Given the description of an element on the screen output the (x, y) to click on. 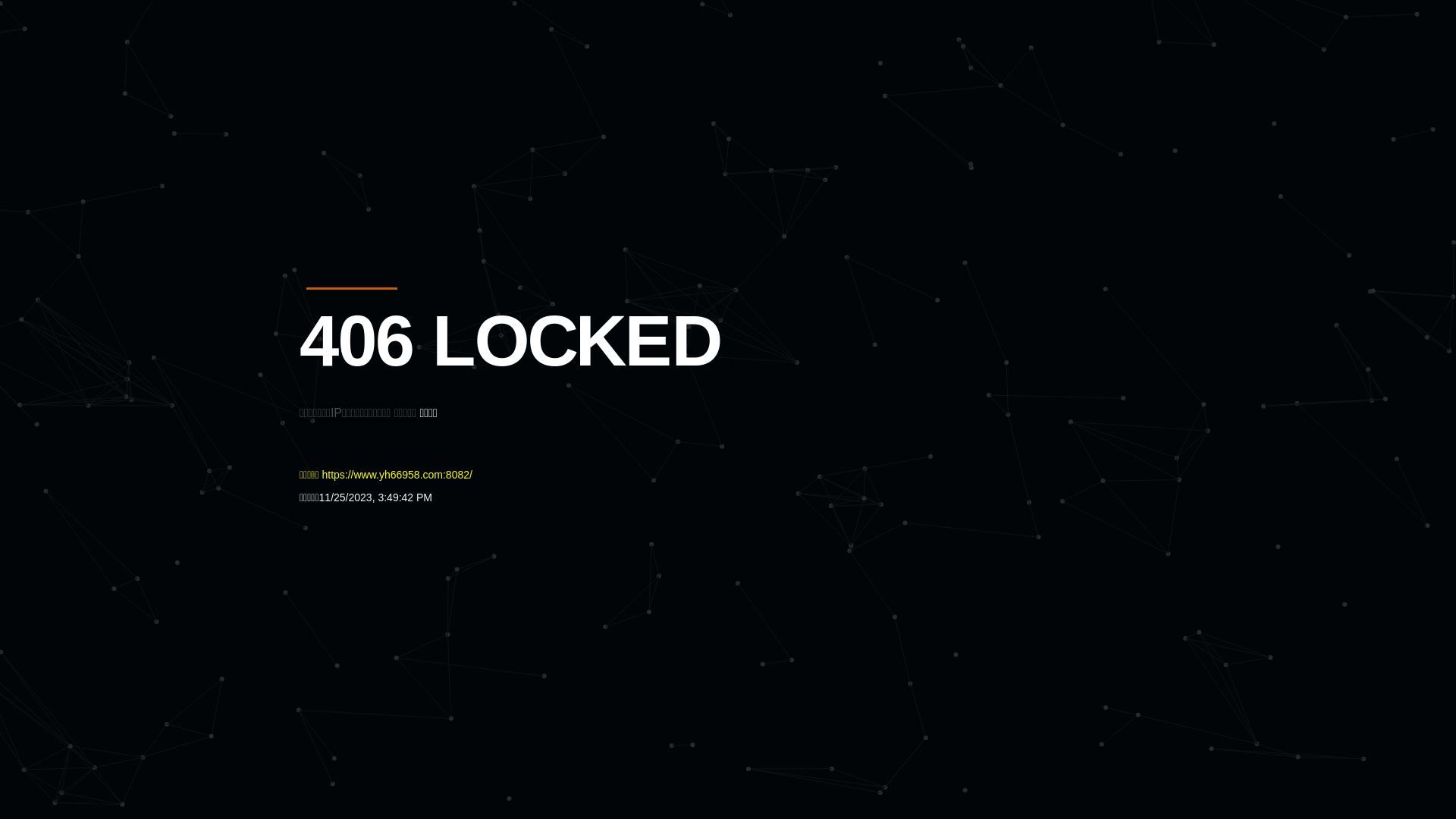
Quatro Element type: text (410, 86)
